Given the description of an element on the screen output the (x, y) to click on. 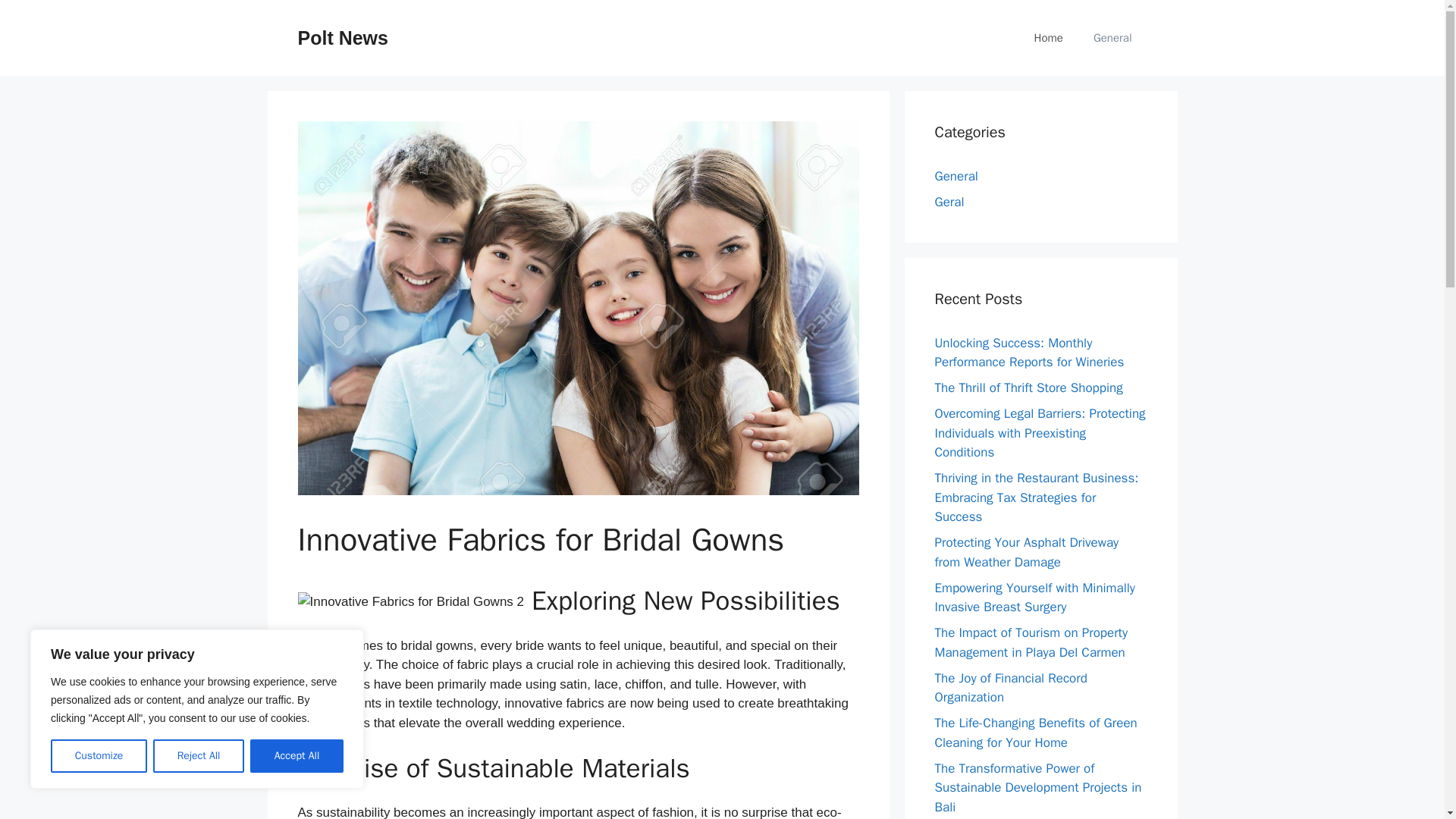
Accept All (296, 756)
Empowering Yourself with Minimally Invasive Breast Surgery (1034, 597)
Unlocking Success: Monthly Performance Reports for Wineries (1029, 352)
Home (1048, 37)
The Thrill of Thrift Store Shopping (1028, 387)
General (1112, 37)
Geral (948, 201)
Reject All (198, 756)
